Given the description of an element on the screen output the (x, y) to click on. 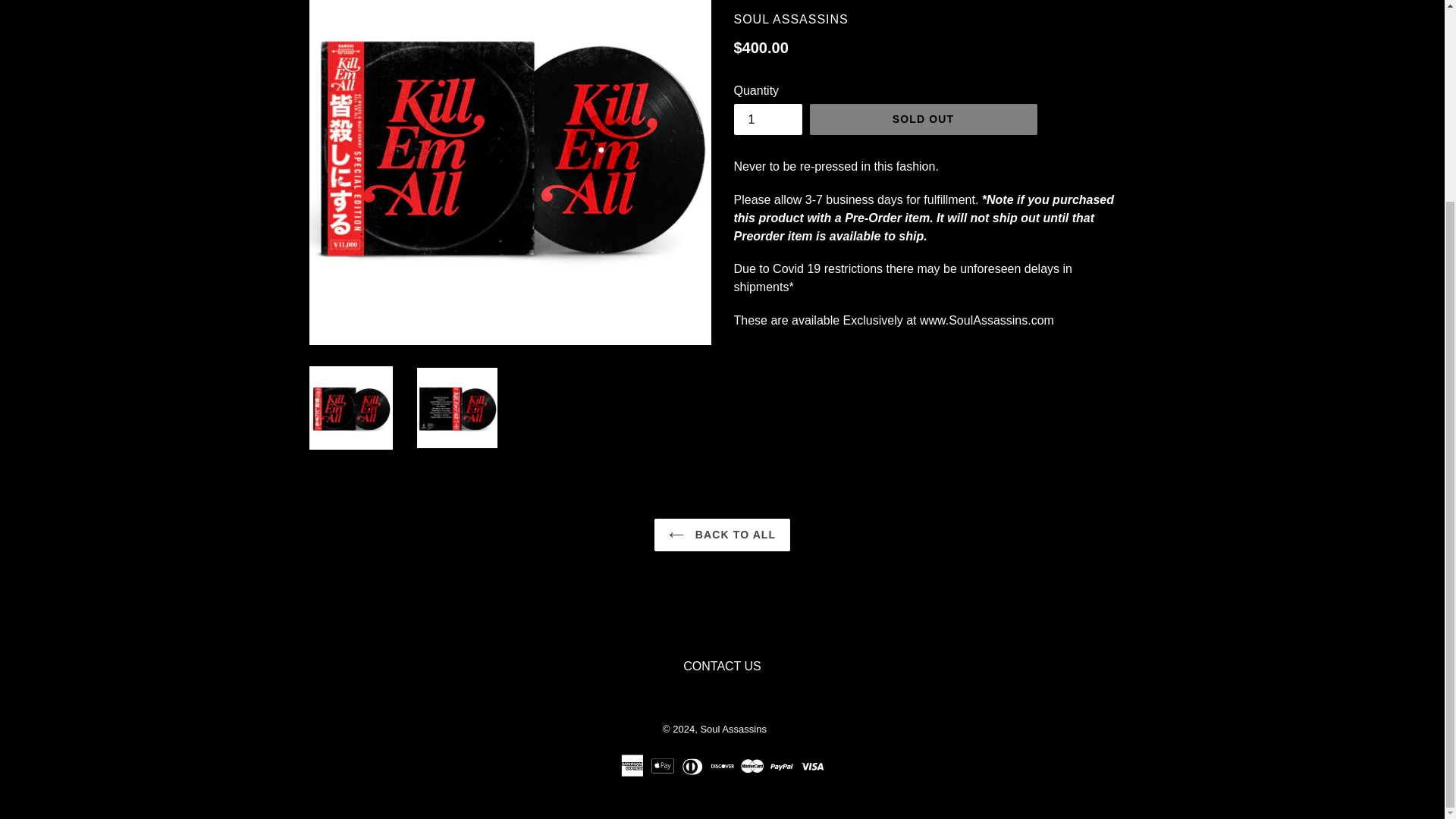
Soul Assassins (732, 728)
BACK TO ALL (721, 534)
1 (767, 119)
SOLD OUT (922, 119)
CONTACT US (721, 666)
